Given the description of an element on the screen output the (x, y) to click on. 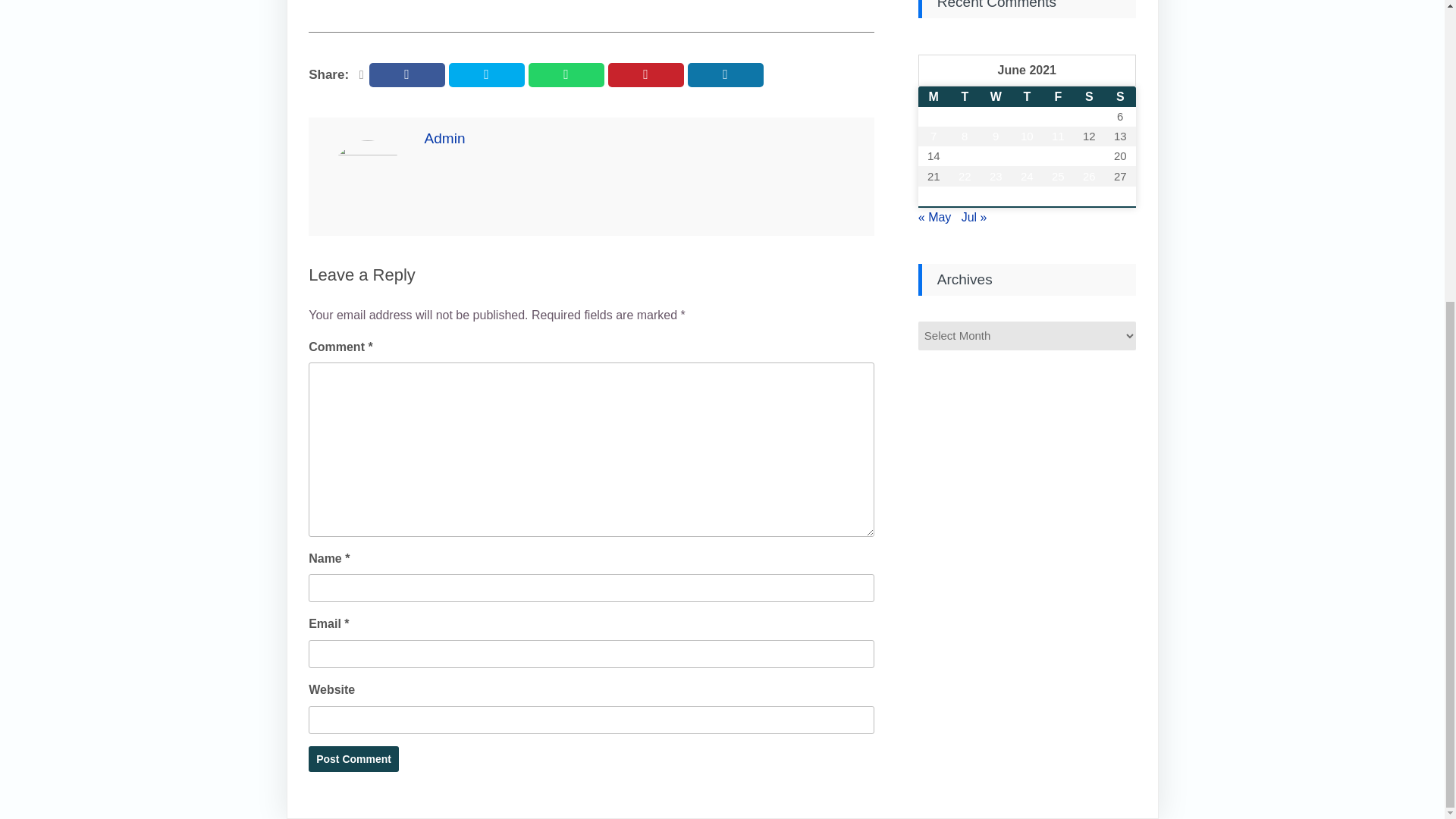
22 (964, 176)
twitter (486, 74)
1 (964, 116)
4 (1058, 116)
Admin (445, 138)
7 (933, 136)
15 (964, 156)
9 (995, 136)
Thursday (1026, 96)
3 (1026, 116)
